Given the description of an element on the screen output the (x, y) to click on. 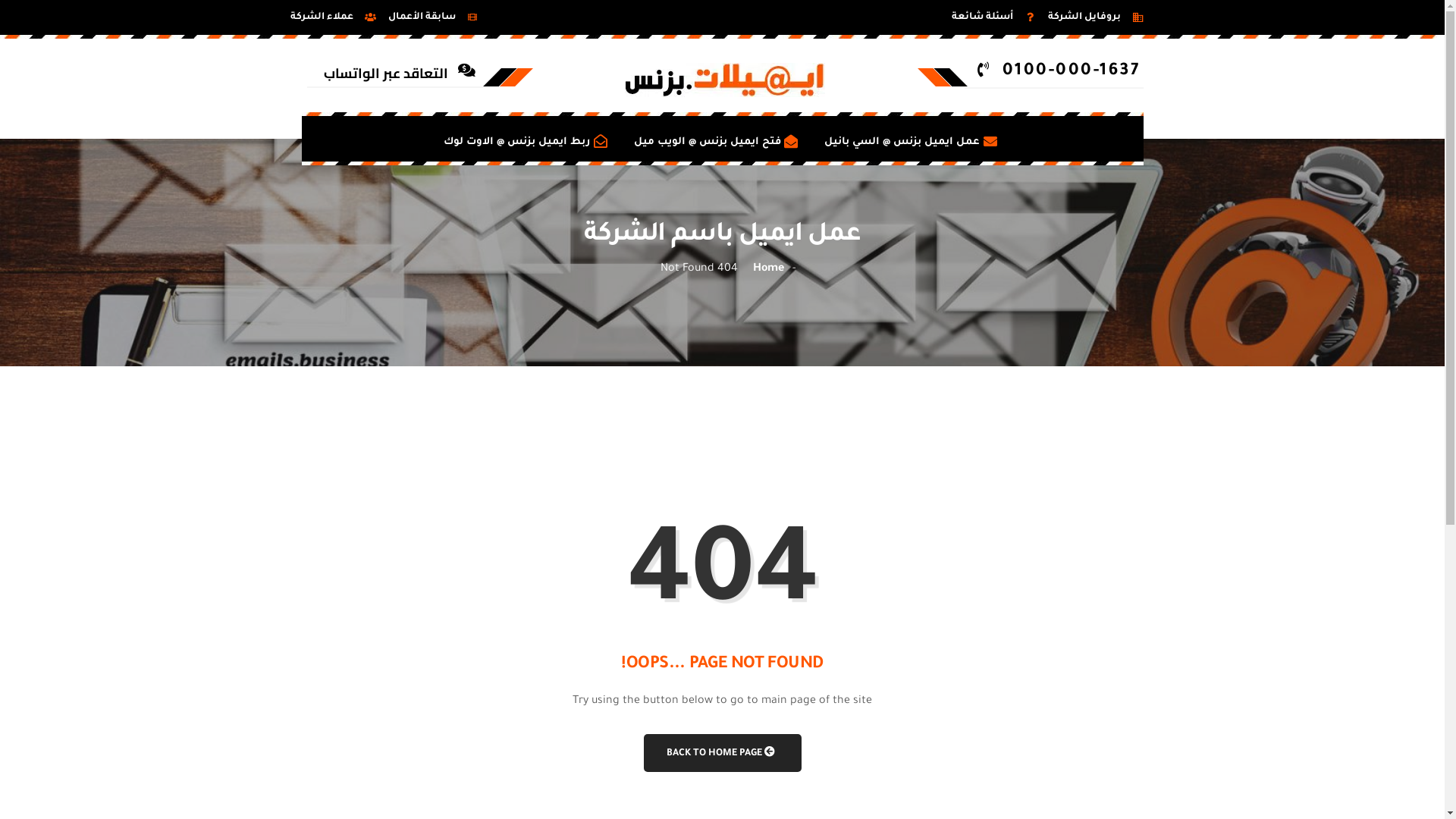
0100-000-1637 Element type: text (1053, 72)
BACK TO HOME PAGE Element type: text (721, 752)
Home Element type: text (768, 269)
